Given the description of an element on the screen output the (x, y) to click on. 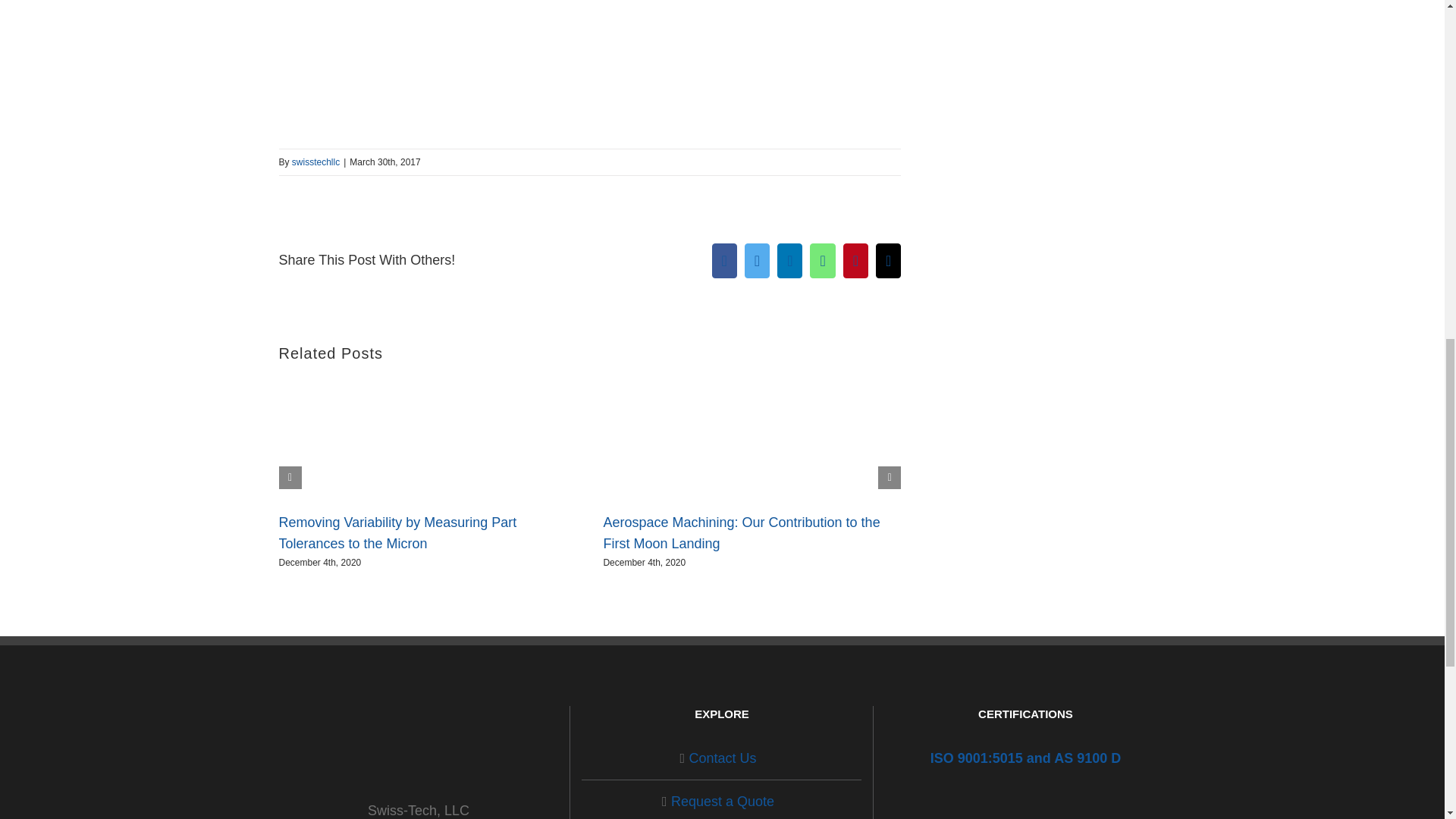
Posts by swisstechllc (315, 162)
swisstechllc (315, 162)
